Given the description of an element on the screen output the (x, y) to click on. 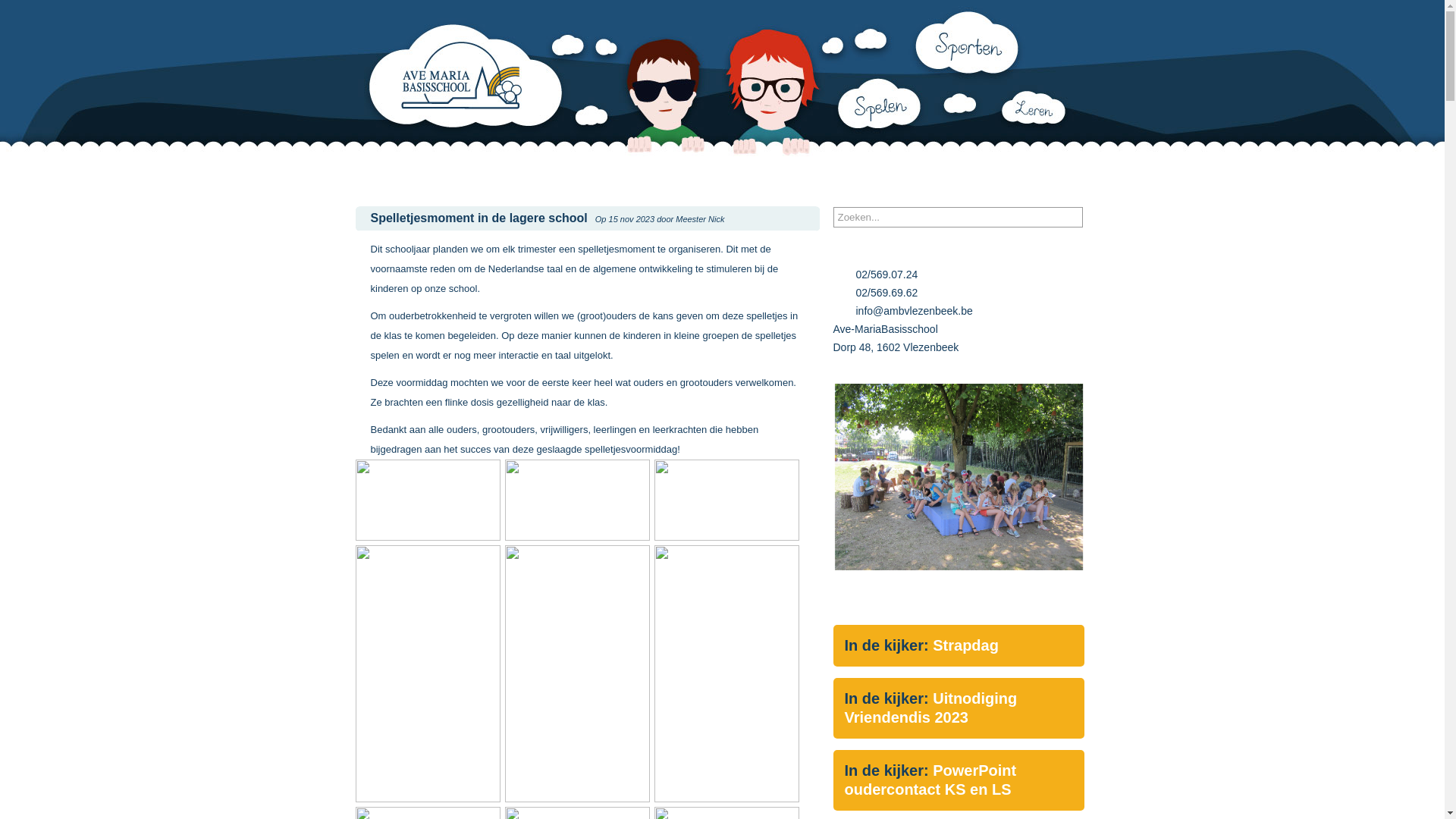
Schoolgebeuren Element type: text (710, 172)
Onze School Element type: text (472, 172)
Links Element type: text (978, 172)
In de kijker: Uitnodiging Vriendendis 2023 Element type: text (957, 707)
Nieuws Element type: text (385, 172)
Contact Element type: text (1050, 172)
Klassen Element type: text (618, 172)
Info Element type: text (553, 172)
Kalender Element type: text (806, 172)
In de kijker: PowerPoint oudercontact KS en LS Element type: text (957, 779)
In de kijker: Strapdag Element type: text (957, 645)
Documenten Element type: text (897, 172)
